Given the description of an element on the screen output the (x, y) to click on. 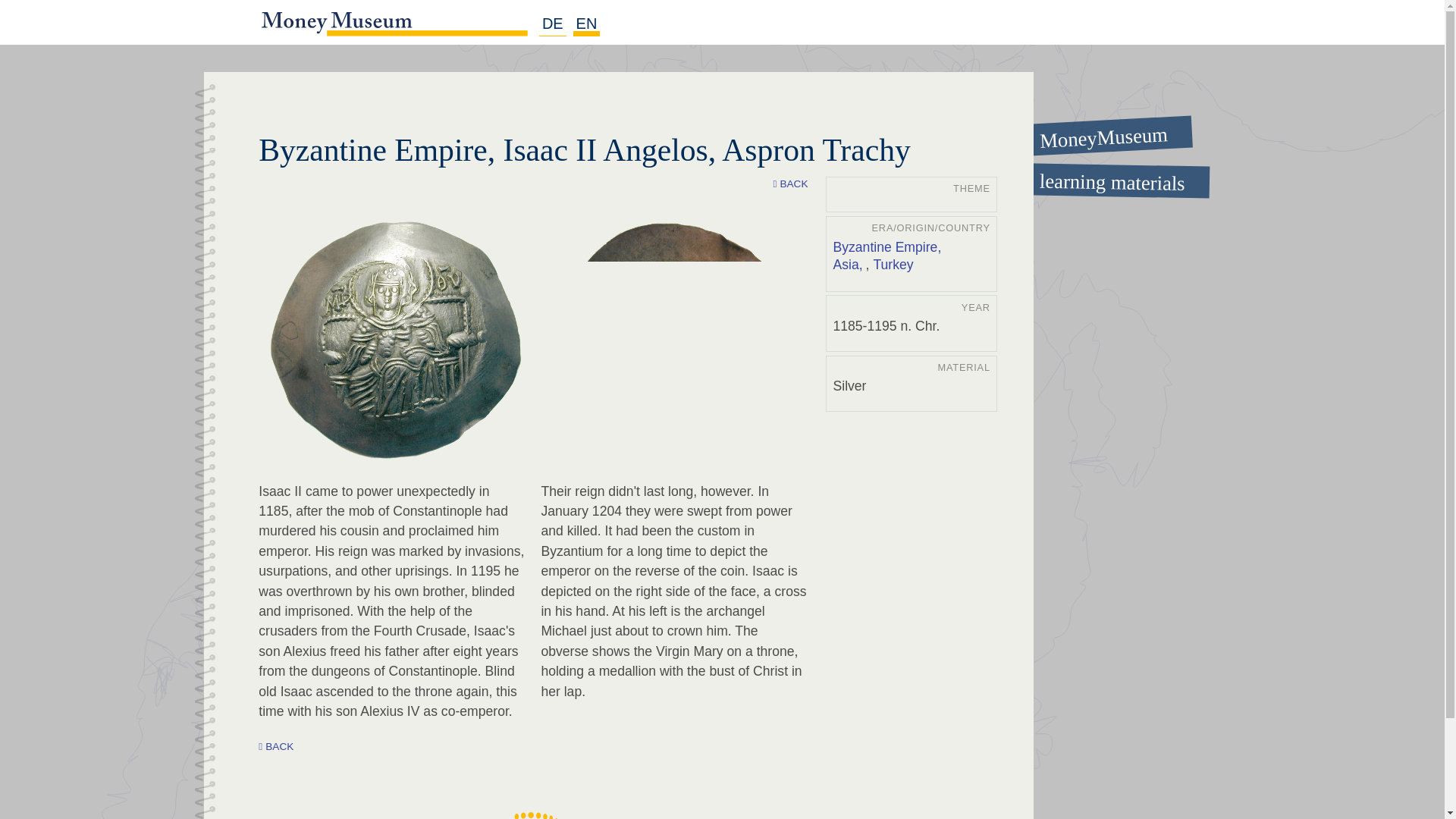
Asia (848, 265)
BACK (276, 747)
BACK (790, 184)
Byzantine Empire (887, 248)
learning materials (1097, 178)
EN (586, 24)
Turkey (892, 265)
DE (552, 24)
MoneyMuseum (1096, 130)
